Given the description of an element on the screen output the (x, y) to click on. 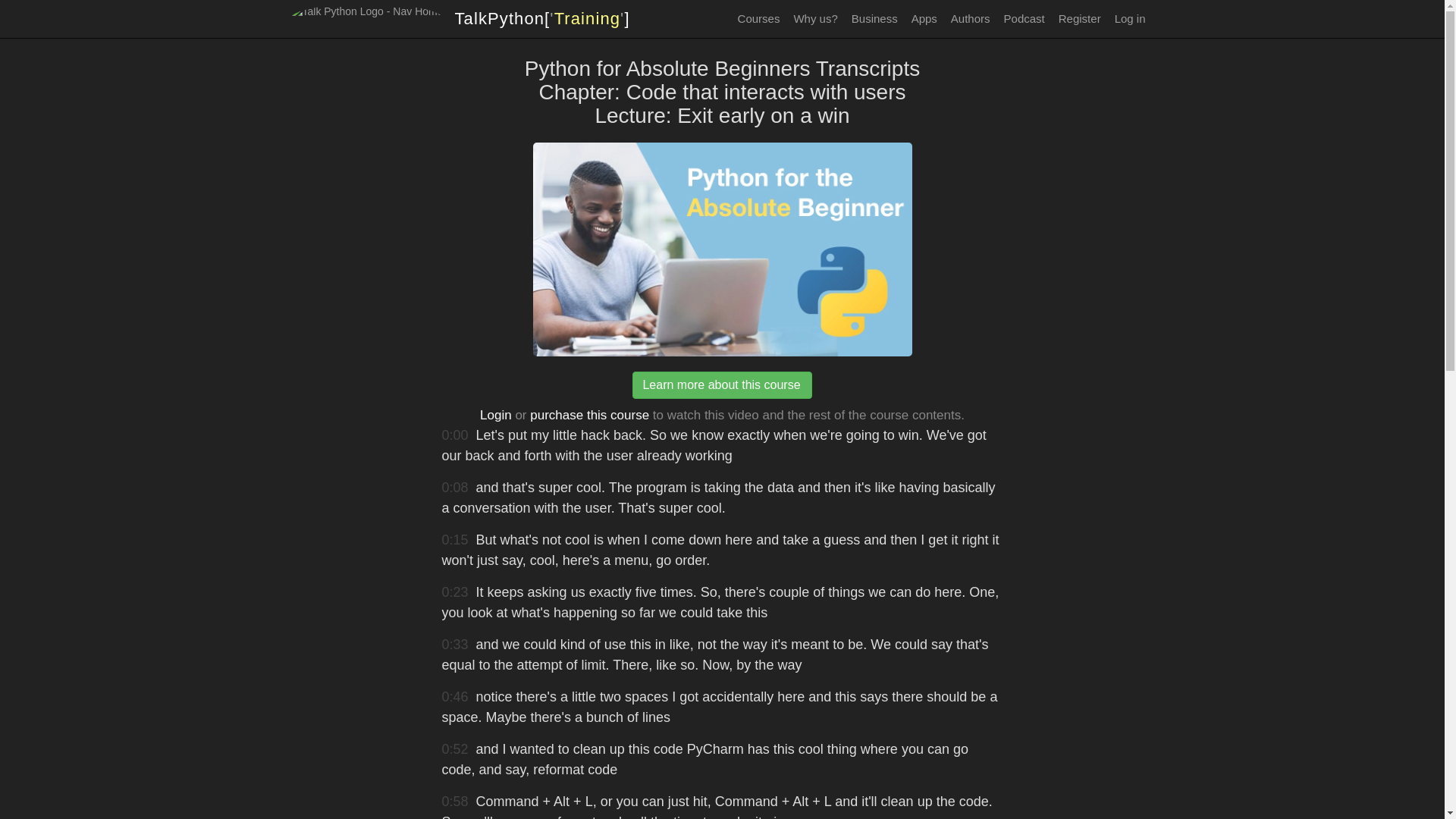
Apps (923, 18)
Create a free account (1079, 18)
Login (496, 414)
Log in (1130, 18)
Why us? (815, 18)
purchase this course (589, 414)
Find your next Python course (758, 18)
Authors (970, 18)
